Given the description of an element on the screen output the (x, y) to click on. 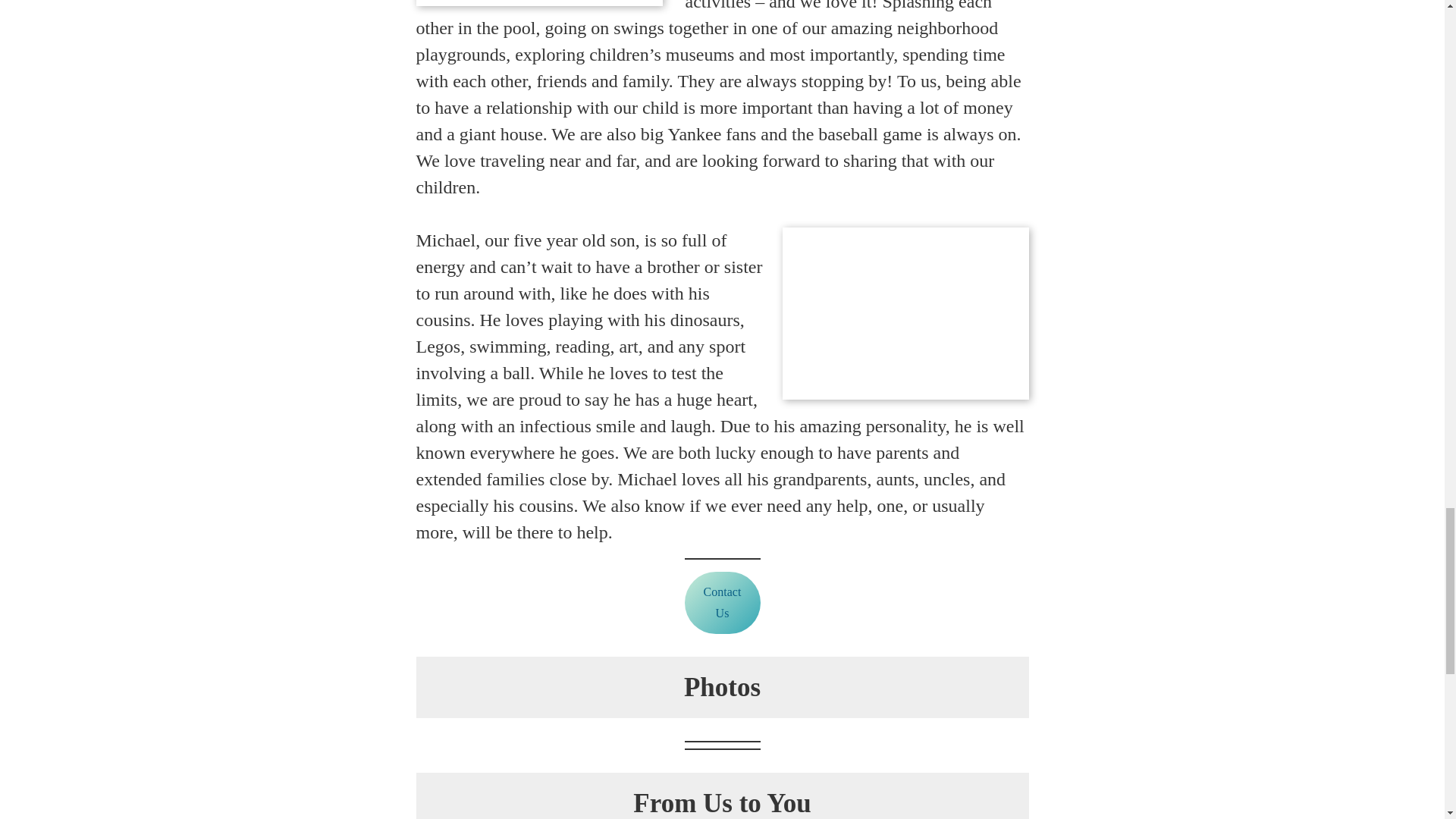
Contact Us (722, 602)
